Given the description of an element on the screen output the (x, y) to click on. 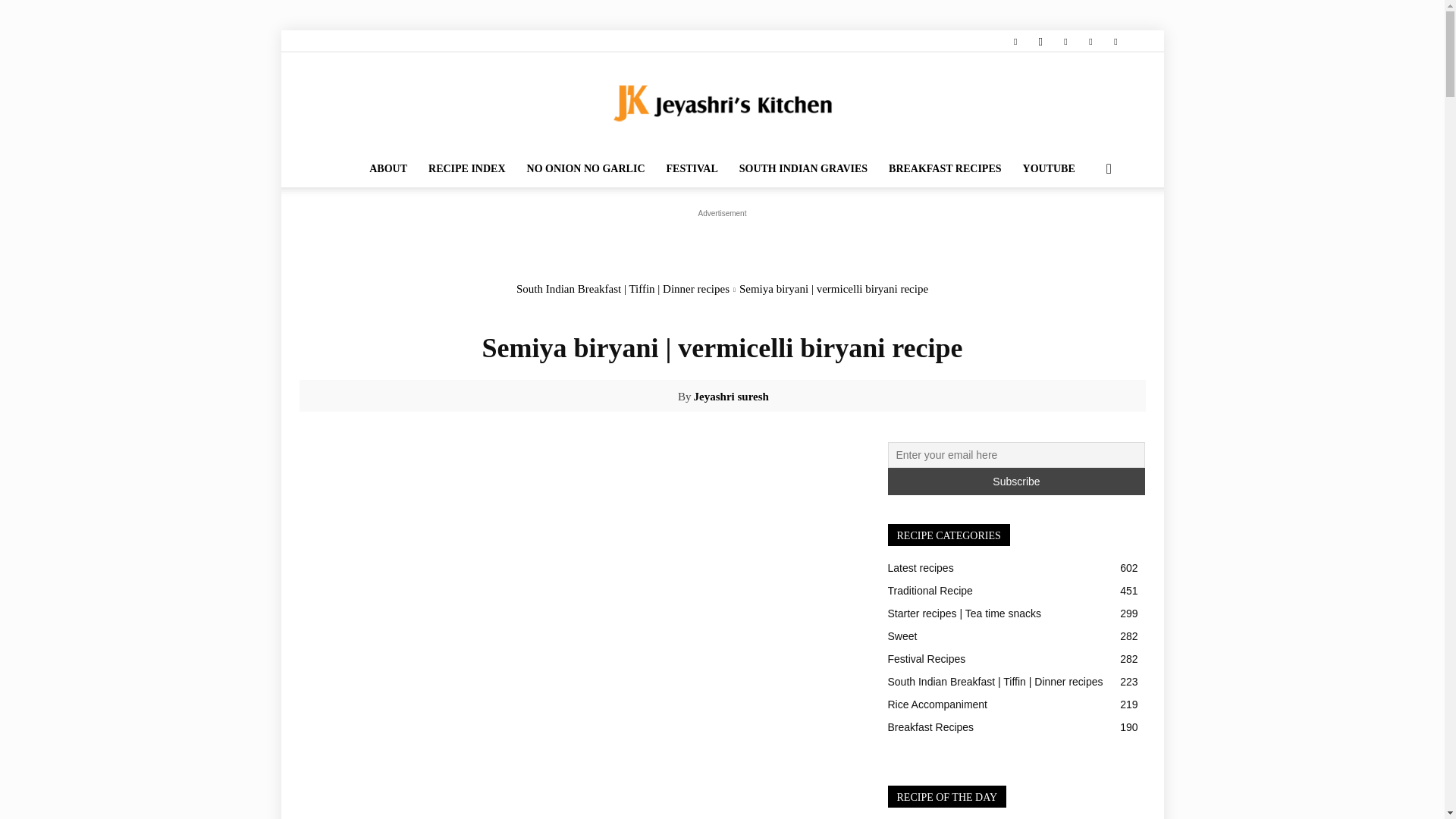
Jeyashri suresh (731, 395)
Pinterest (1090, 40)
YOUTUBE (1048, 168)
NO ONION NO GARLIC (586, 168)
Mail (1065, 40)
BREAKFAST RECIPES (944, 168)
Jeyashri suresh (664, 395)
ABOUT (387, 168)
Jeyashri's Kitchen (722, 102)
RECIPE INDEX (466, 168)
